Given the description of an element on the screen output the (x, y) to click on. 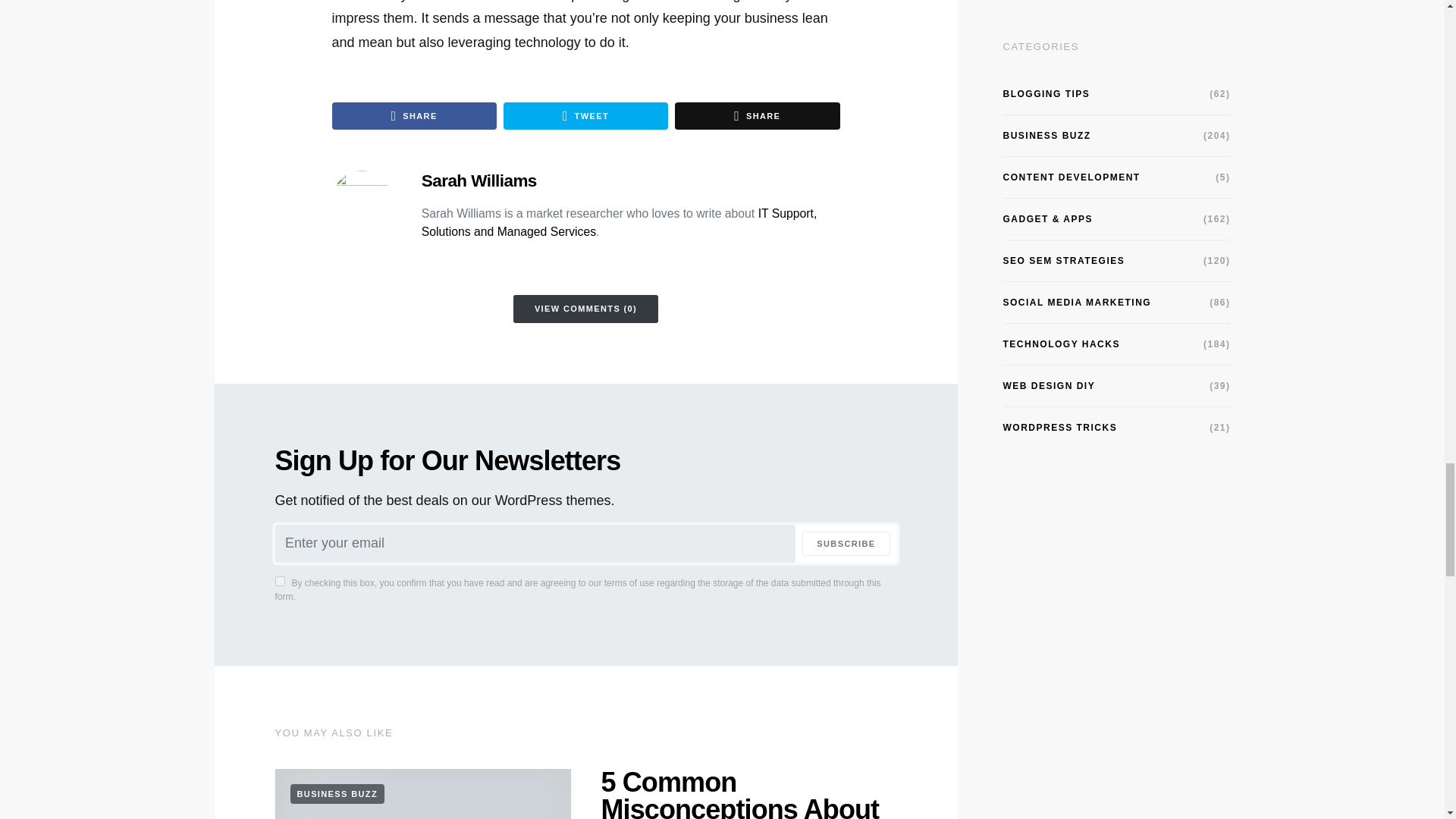
on (279, 581)
